Given the description of an element on the screen output the (x, y) to click on. 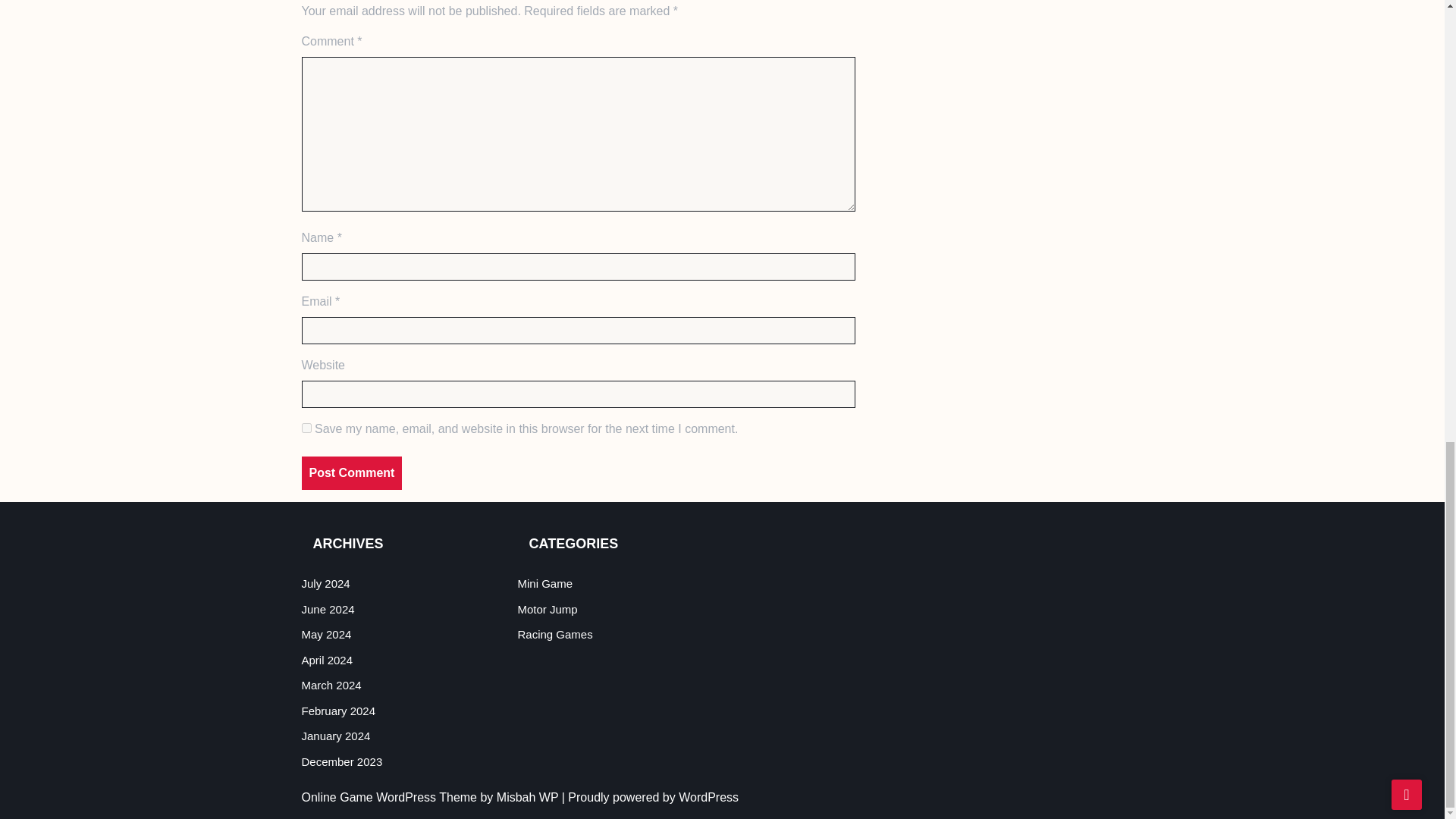
Post Comment (352, 472)
July 2024 (325, 583)
January 2024 (336, 735)
Motor Jump (546, 608)
Mini Game (544, 583)
Online Game WordPress Theme (390, 797)
April 2024 (327, 659)
May 2024 (326, 634)
December 2023 (341, 761)
Racing Games (554, 634)
February 2024 (338, 710)
Post Comment (352, 472)
March 2024 (331, 684)
yes (306, 428)
June 2024 (328, 608)
